Given the description of an element on the screen output the (x, y) to click on. 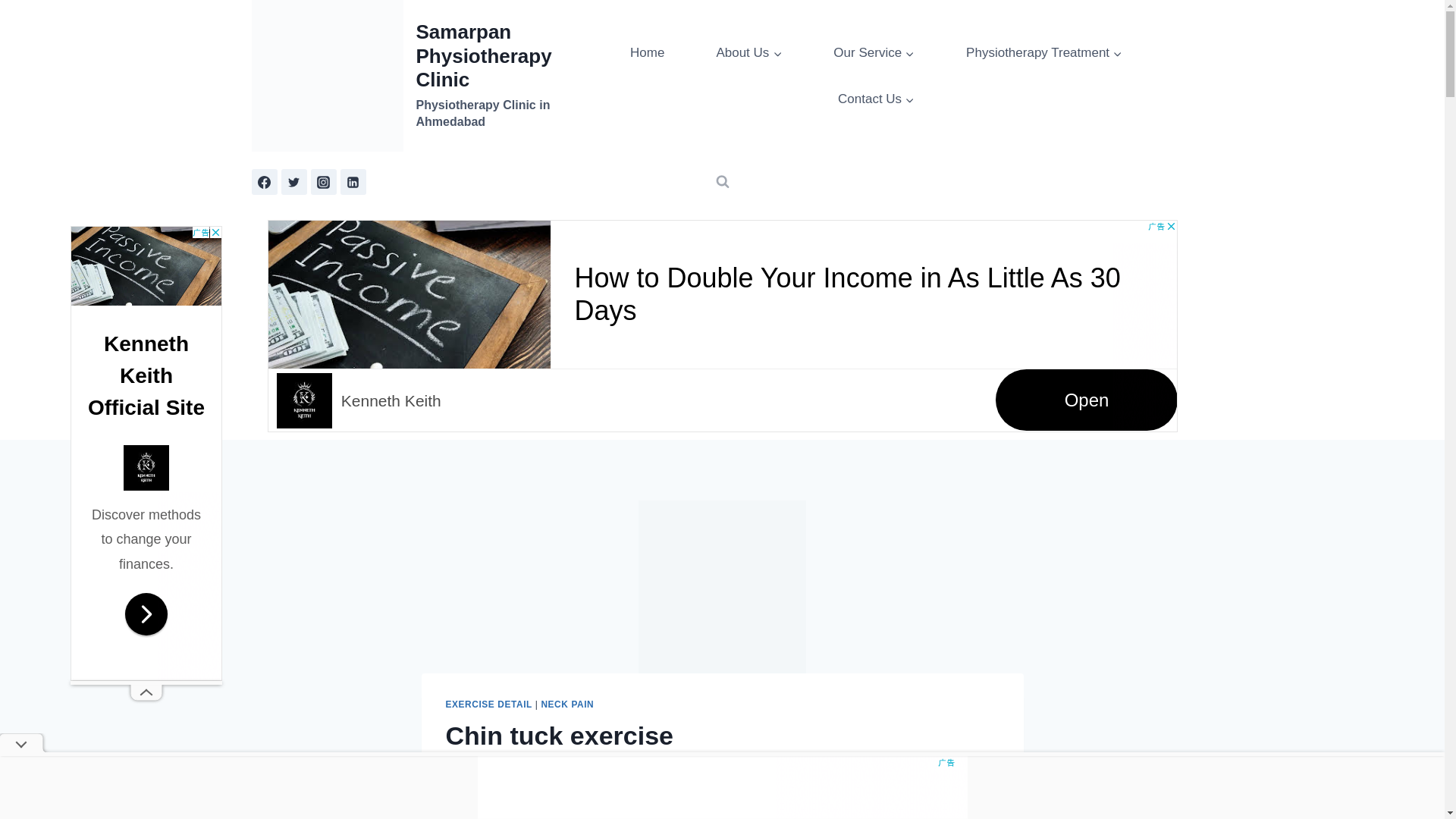
Contact Us (876, 99)
EXERCISE DETAIL (488, 704)
NECK PAIN (567, 704)
About Us (749, 52)
Our Service (874, 52)
Physiotherapy Treatment (1044, 52)
Pooja Rajput (489, 773)
Home (647, 52)
